Given the description of an element on the screen output the (x, y) to click on. 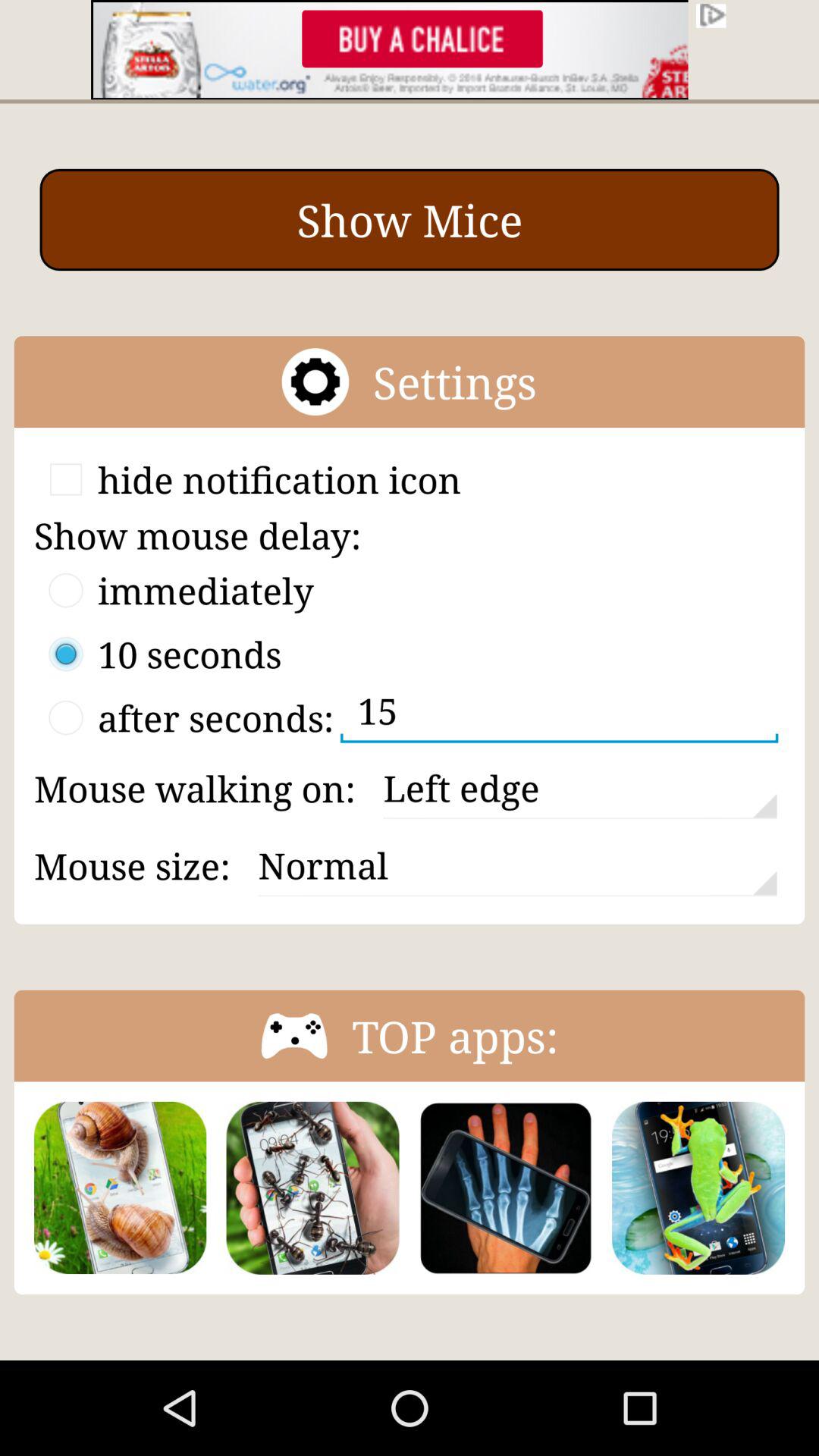
go to the box that reads show mice (409, 219)
select the drop down beside mouse size (517, 865)
select the setting icon beside the settings text (315, 380)
the option hide notification icon along with the check box beside it (247, 478)
click on the third image from left (505, 1188)
click on the third option (183, 717)
click on the first image from left (120, 1188)
click on the second image from left (312, 1188)
